Given the description of an element on the screen output the (x, y) to click on. 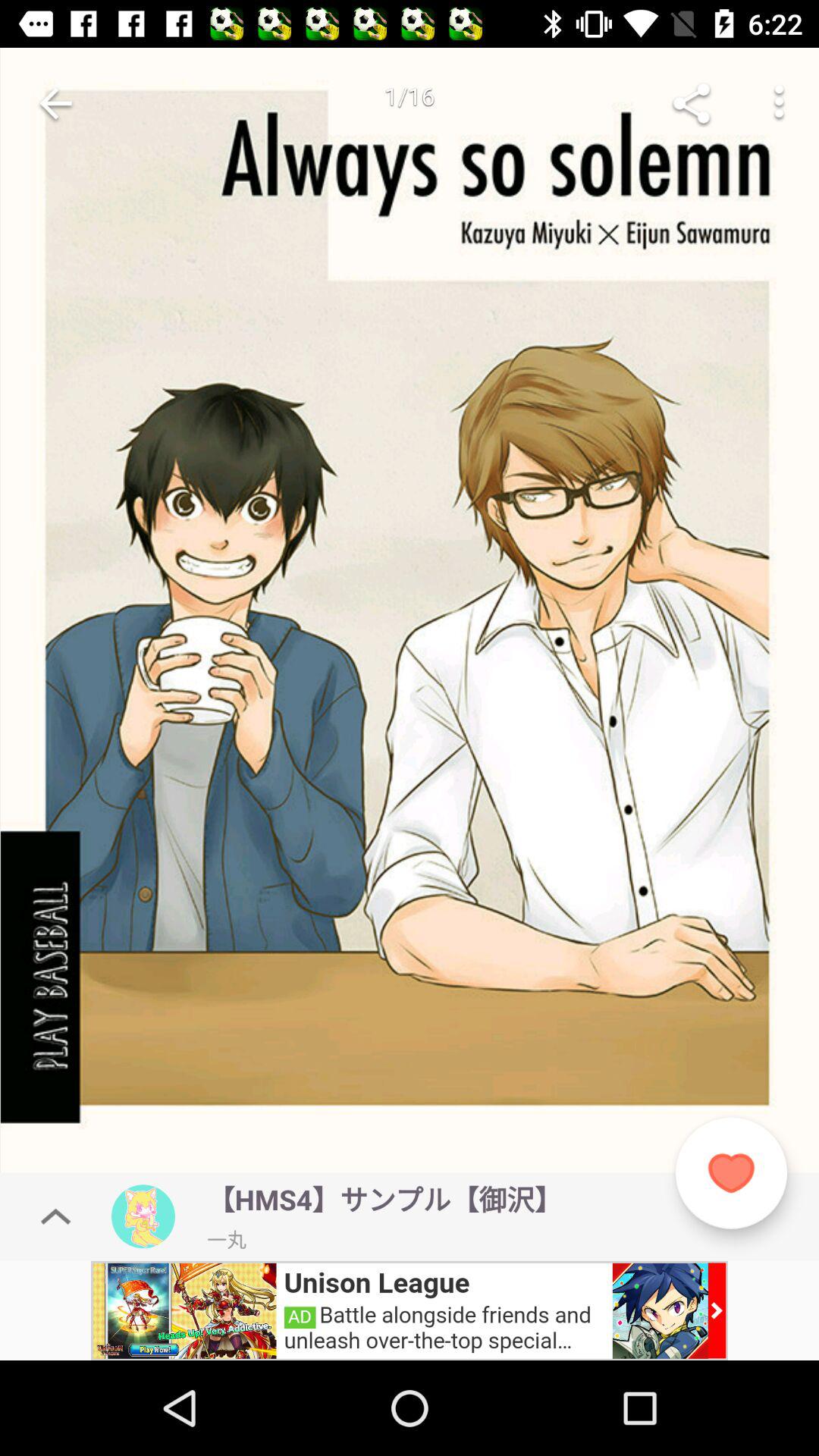
love (731, 1173)
